Given the description of an element on the screen output the (x, y) to click on. 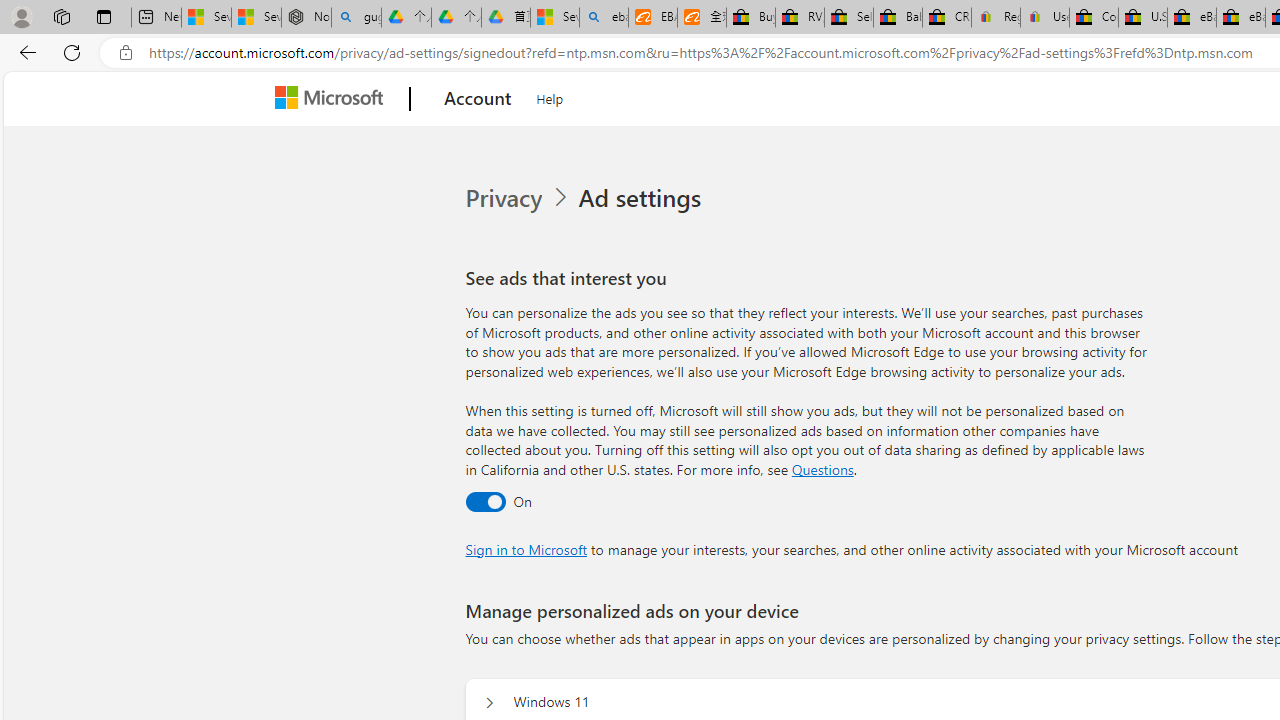
RV, Trailer & Camper Steps & Ladders for sale | eBay (799, 17)
Consumer Health Data Privacy Policy - eBay Inc. (1093, 17)
Refresh (72, 52)
guge yunpan - Search (356, 17)
eBay Inc. Reports Third Quarter 2023 Results (1240, 17)
Register: Create a personal eBay account (995, 17)
Back (24, 52)
Privacy (505, 197)
Account (477, 99)
Sell worldwide with eBay (848, 17)
